Given the description of an element on the screen output the (x, y) to click on. 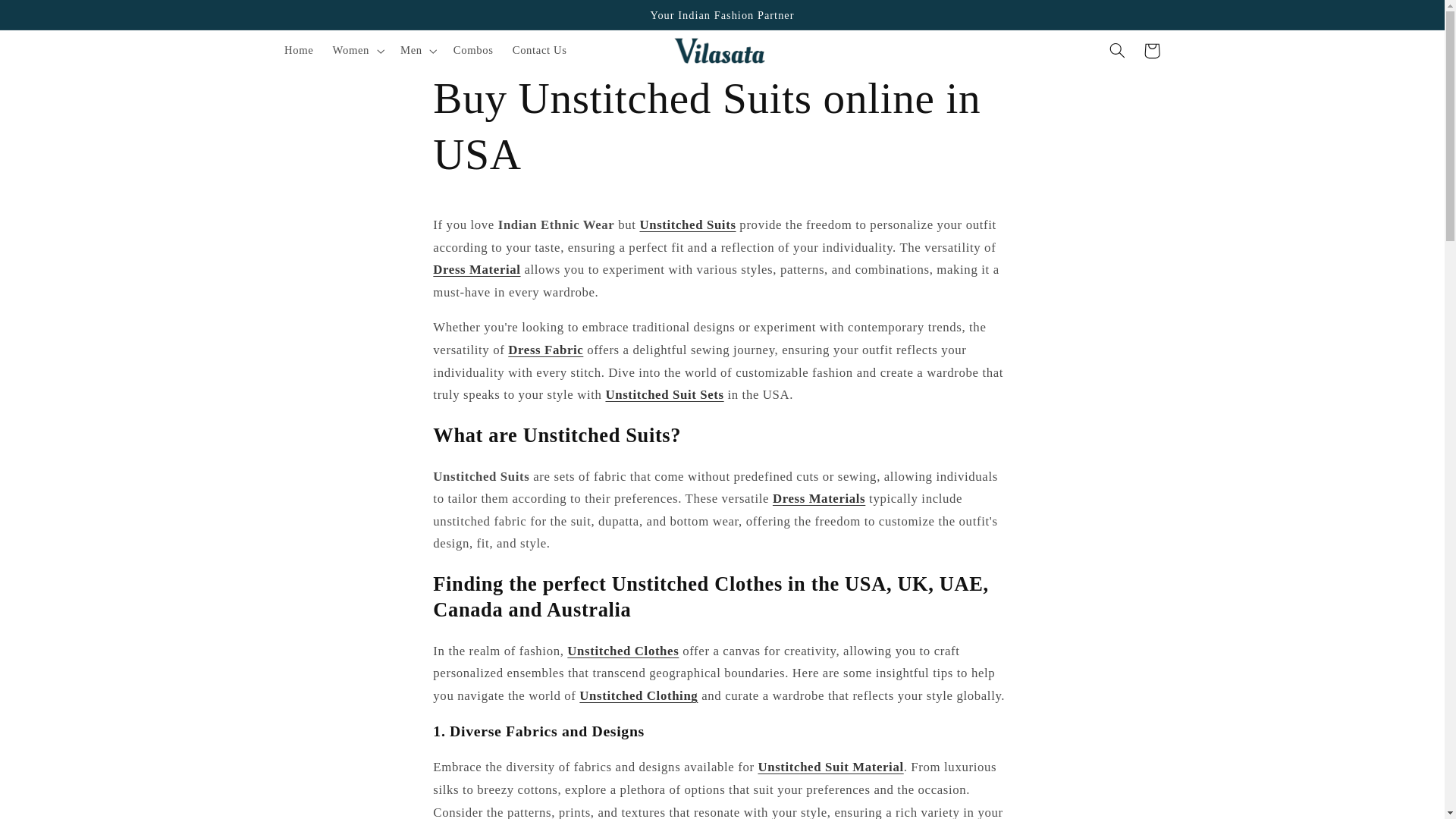
Dress Material (475, 269)
Dress Materials (818, 498)
Home (299, 50)
Dress Fabric (545, 350)
Unstitched Clothes (622, 650)
Unstitched Suit Sets (664, 394)
Unstitched Clothing (638, 695)
Skip to content (48, 18)
Unstitched Suit Material (829, 766)
Unstitched Suits (687, 224)
